Given the description of an element on the screen output the (x, y) to click on. 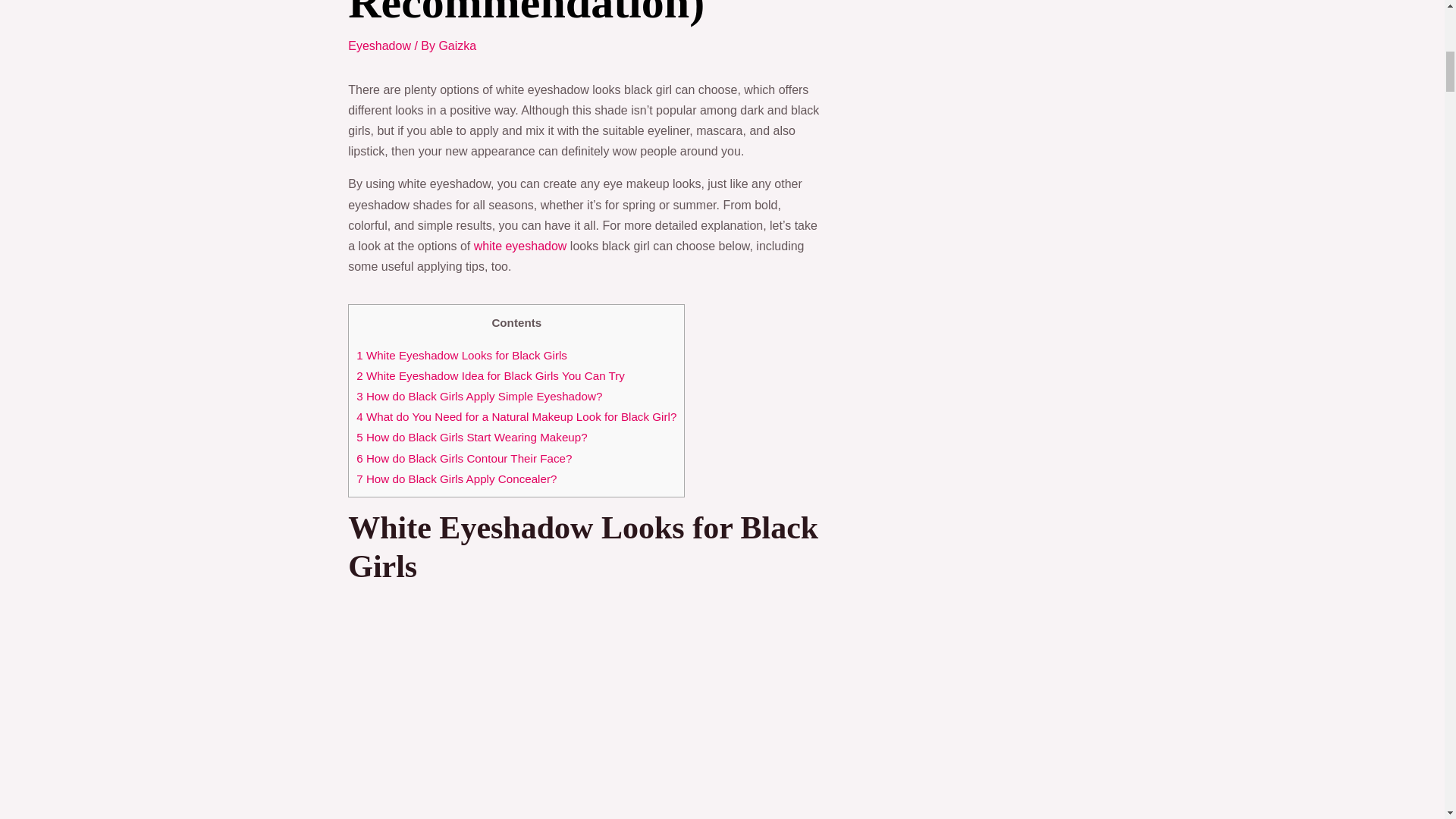
6 How do Black Girls Contour Their Face? (464, 458)
2 White Eyeshadow Idea for Black Girls You Can Try (490, 375)
white eyeshadow (520, 245)
Eyeshadow (378, 45)
5 How do Black Girls Start Wearing Makeup? (471, 436)
7 How do Black Girls Apply Concealer? (456, 478)
4 What do You Need for a Natural Makeup Look for Black Girl? (516, 416)
3 How do Black Girls Apply Simple Eyeshadow? (479, 395)
View all posts by Gaizka (457, 45)
1 White Eyeshadow Looks for Black Girls (461, 354)
